Given the description of an element on the screen output the (x, y) to click on. 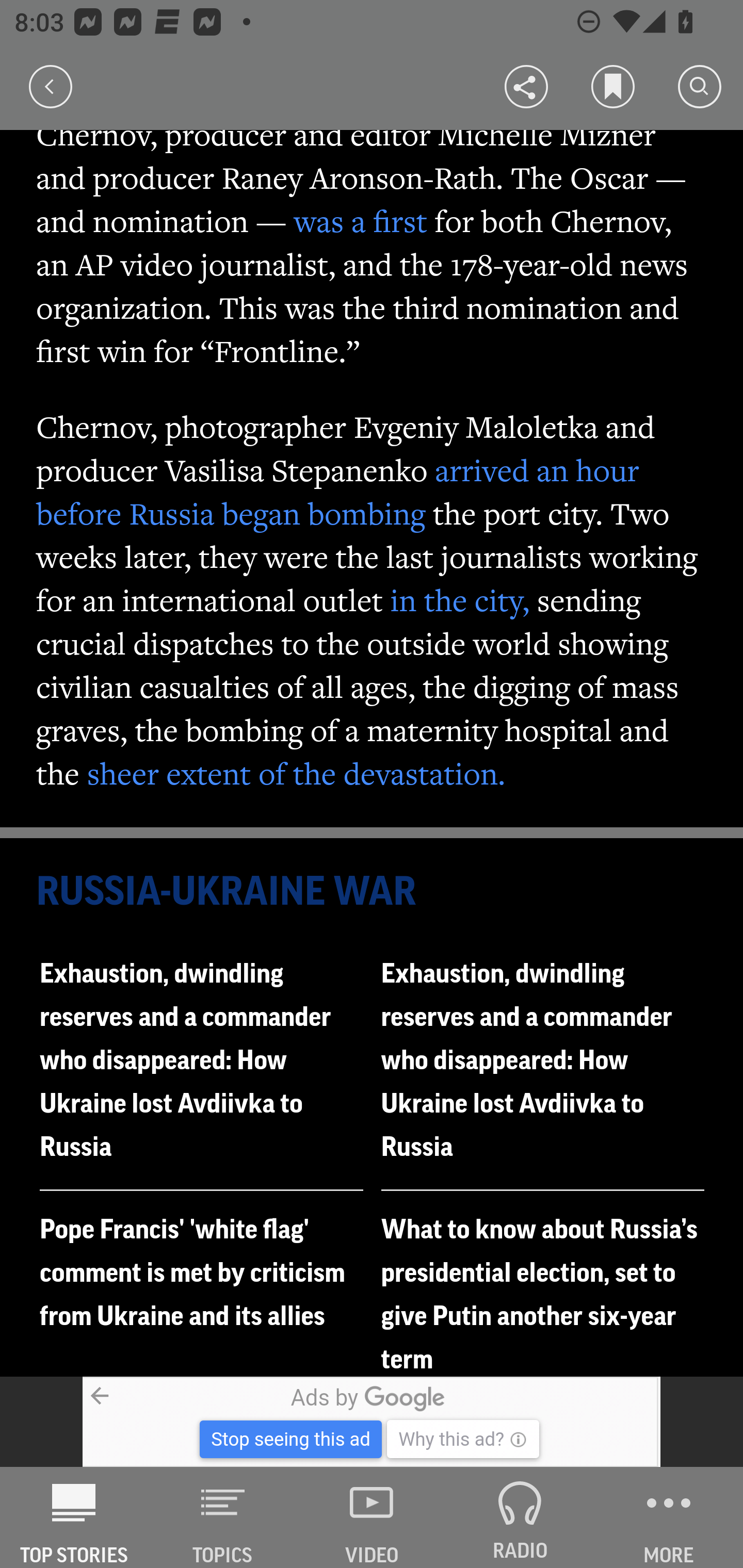
was a first (359, 221)
arrived an hour before Russia began bombing (338, 491)
in the city, (460, 599)
sheer extent of the devastation. (295, 772)
RUSSIA-UKRAINE WAR (372, 891)
AP News TOP STORIES (74, 1517)
TOPICS (222, 1517)
VIDEO (371, 1517)
RADIO (519, 1517)
MORE (668, 1517)
